Given the description of an element on the screen output the (x, y) to click on. 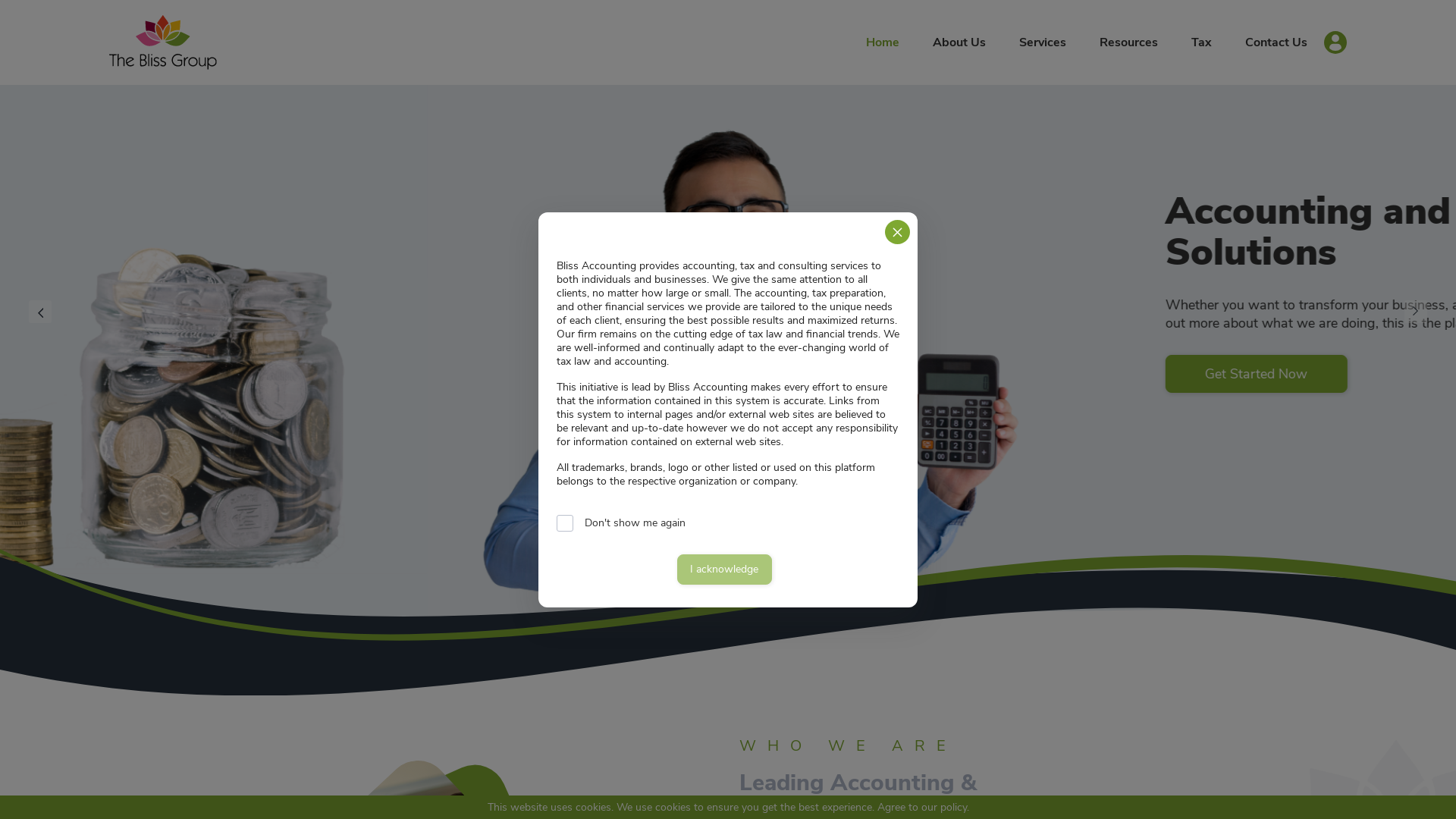
Get Started Now Element type: text (800, 373)
Tax Element type: text (1201, 42)
Services Element type: text (1042, 42)
Home Element type: text (882, 42)
About Us Element type: text (959, 42)
I acknowledge Element type: text (723, 568)
Contact Us Element type: text (1276, 42)
Resources Element type: text (1128, 42)
